Given the description of an element on the screen output the (x, y) to click on. 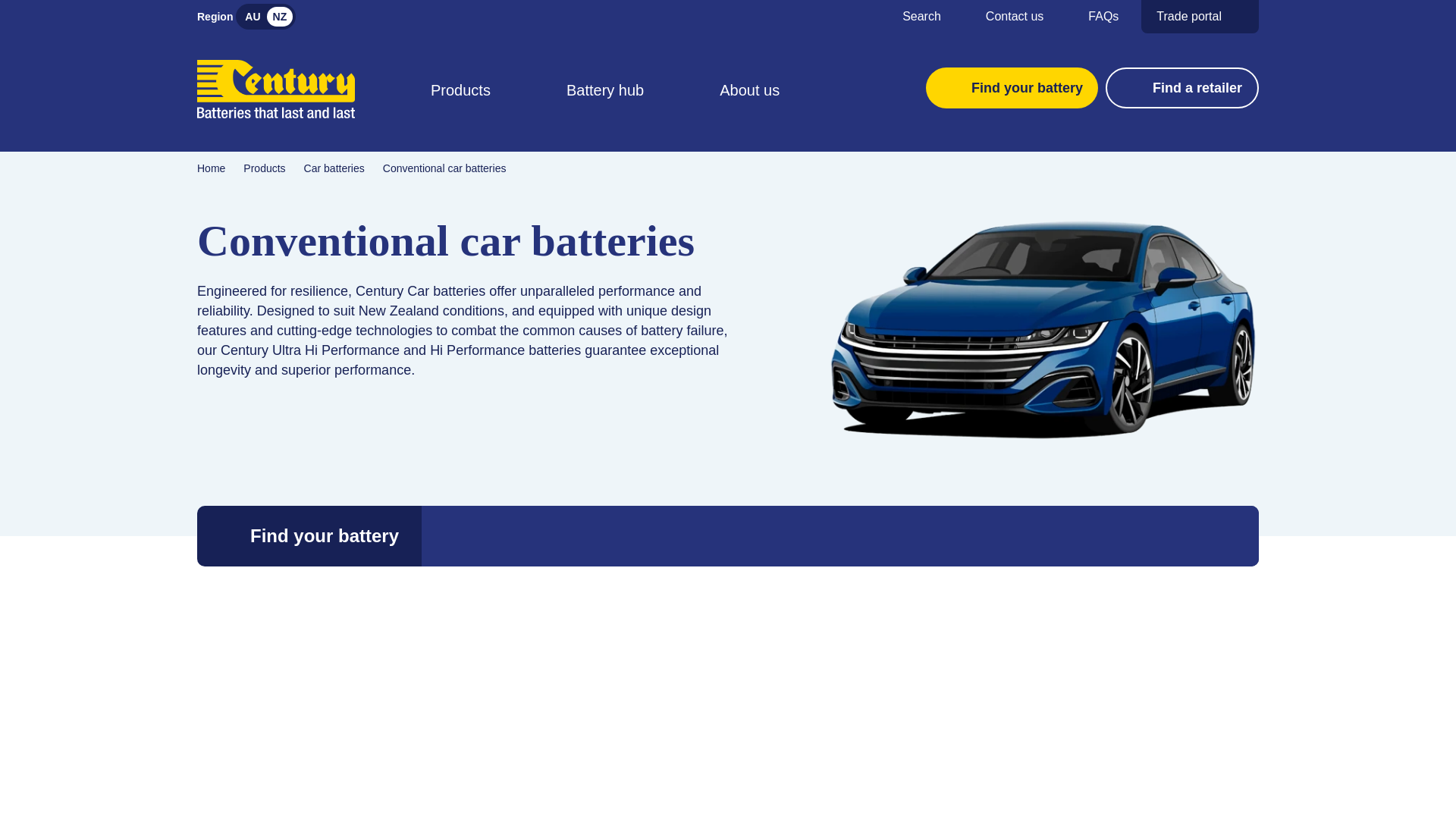
NZ (280, 16)
Products (460, 104)
Battery hub (604, 104)
AU (252, 16)
Trade portal (1200, 16)
FAQs (1091, 16)
Search (910, 16)
Contact us (1003, 16)
